Given the description of an element on the screen output the (x, y) to click on. 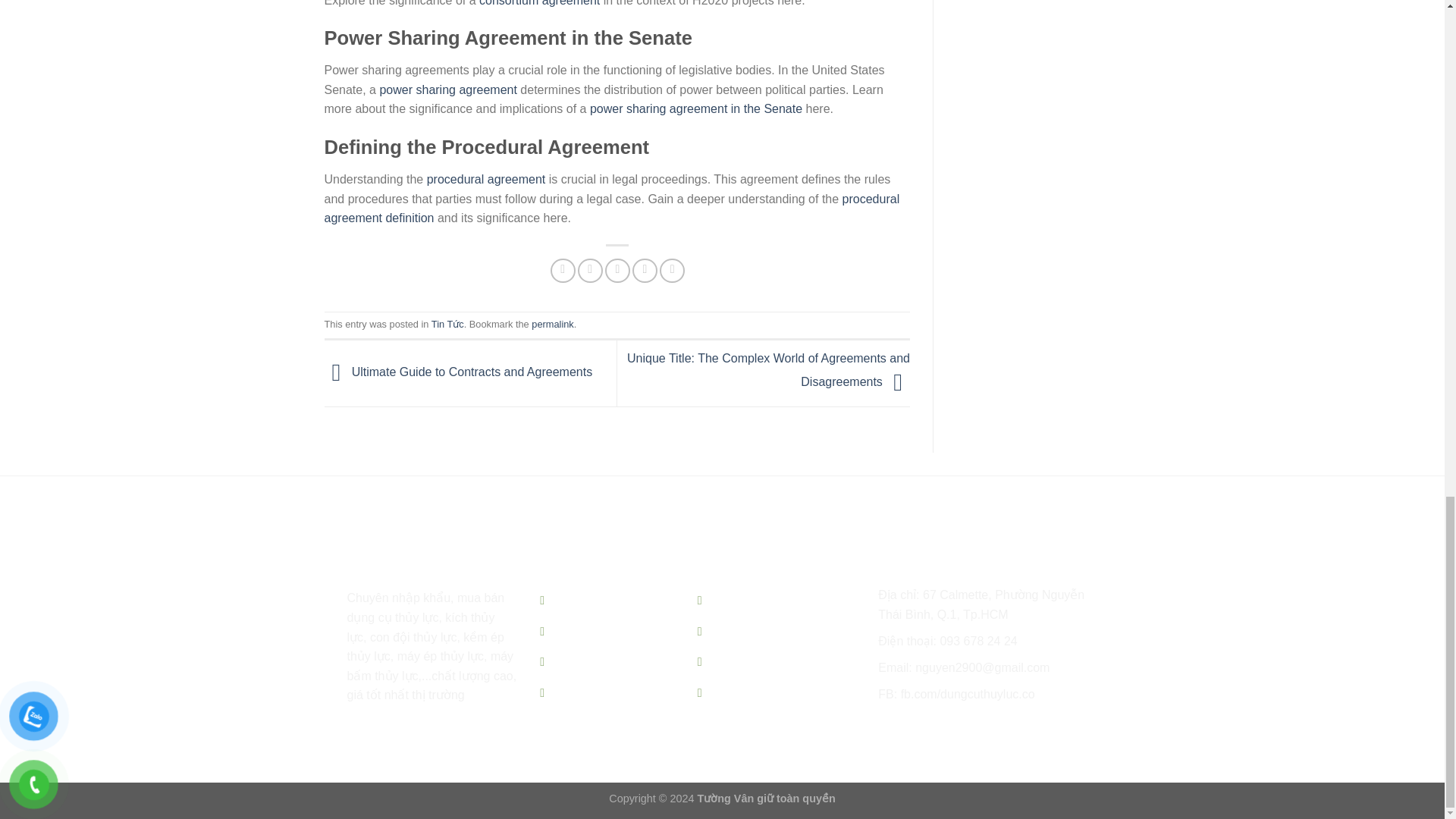
Share on LinkedIn (671, 270)
Share on Twitter (590, 270)
Email to a Friend (617, 270)
Share on Facebook (562, 270)
Pin on Pinterest (644, 270)
